Given the description of an element on the screen output the (x, y) to click on. 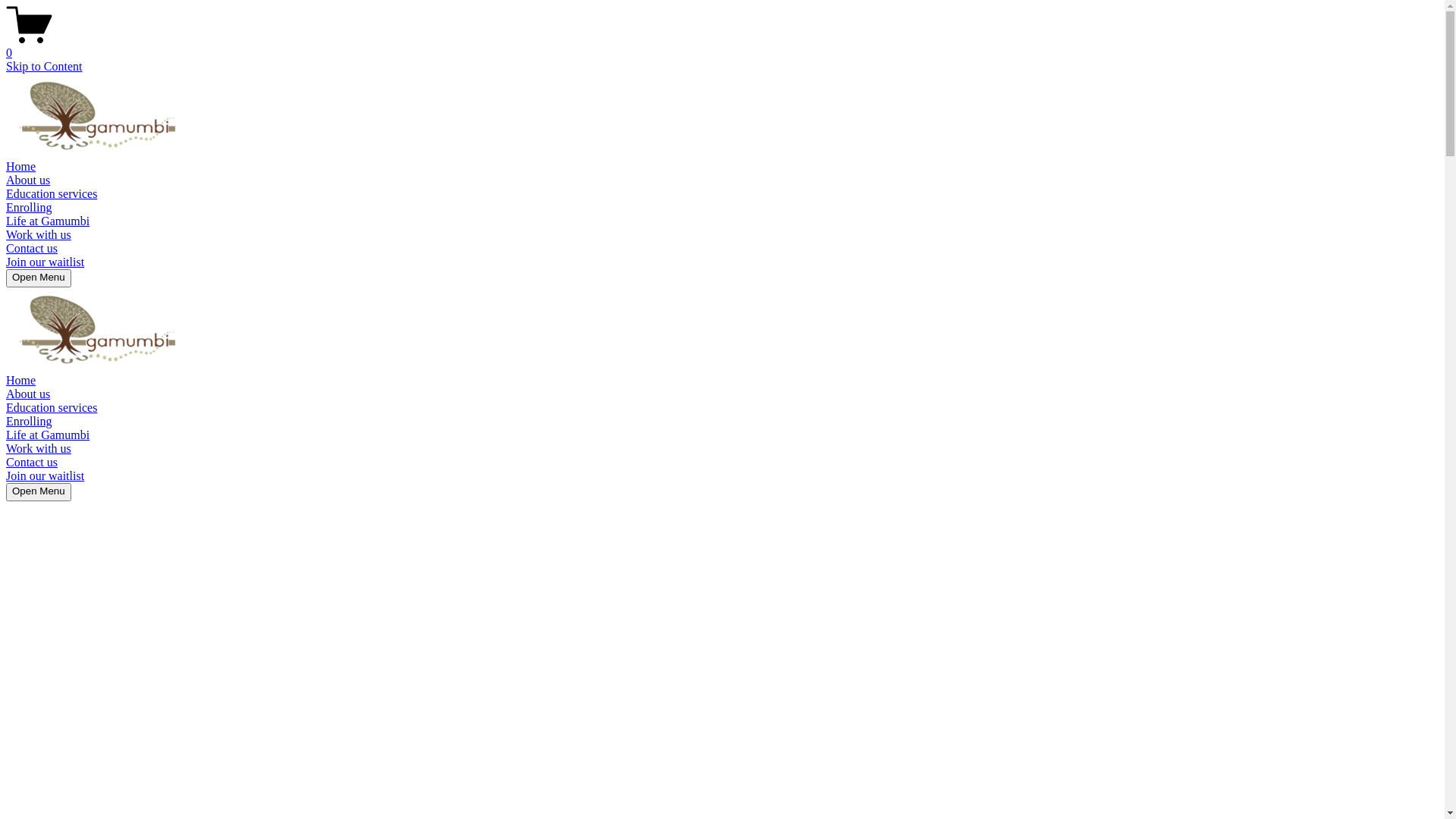
Skip to Content Element type: text (43, 65)
Open Menu Element type: text (38, 278)
Contact us Element type: text (31, 247)
Life at Gamumbi Element type: text (47, 434)
About us Element type: text (28, 393)
Join our waitlist Element type: text (45, 261)
Open Menu Element type: text (38, 492)
Contact us Element type: text (31, 461)
Enrolling Element type: text (28, 206)
Enrolling Element type: text (28, 420)
Home Element type: text (20, 166)
Life at Gamumbi Element type: text (47, 220)
About us Element type: text (28, 179)
Join our waitlist Element type: text (45, 475)
Home Element type: text (20, 379)
Education services Element type: text (51, 407)
Work with us Element type: text (38, 448)
Work with us Element type: text (38, 234)
Education services Element type: text (51, 193)
0 Element type: text (722, 45)
